Given the description of an element on the screen output the (x, y) to click on. 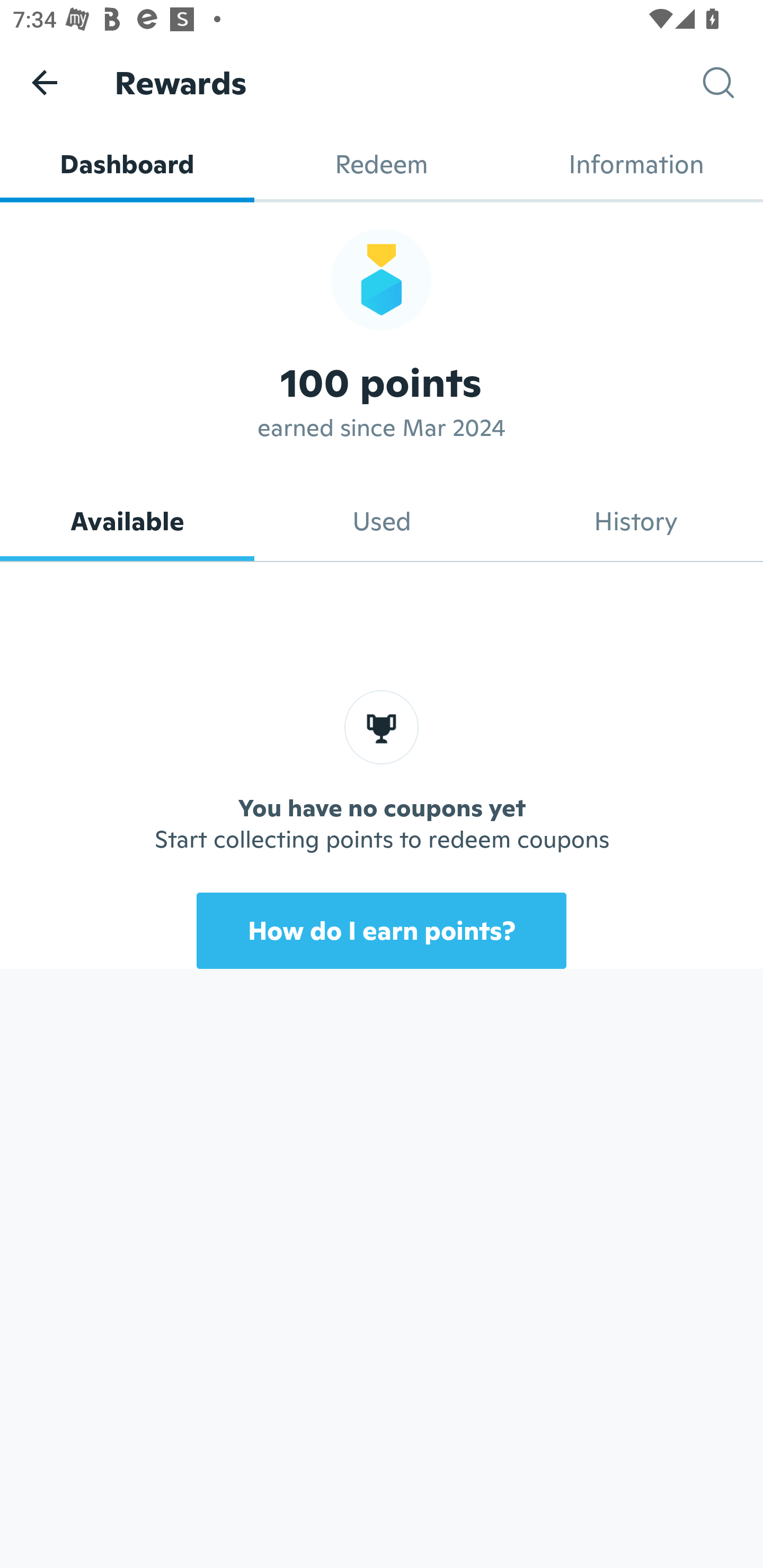
Navigate up (44, 82)
Search (732, 82)
Dashboard (127, 164)
Redeem (381, 164)
Information (635, 164)
Available (127, 520)
Used (381, 520)
History (635, 520)
How do I earn points? (381, 930)
